Given the description of an element on the screen output the (x, y) to click on. 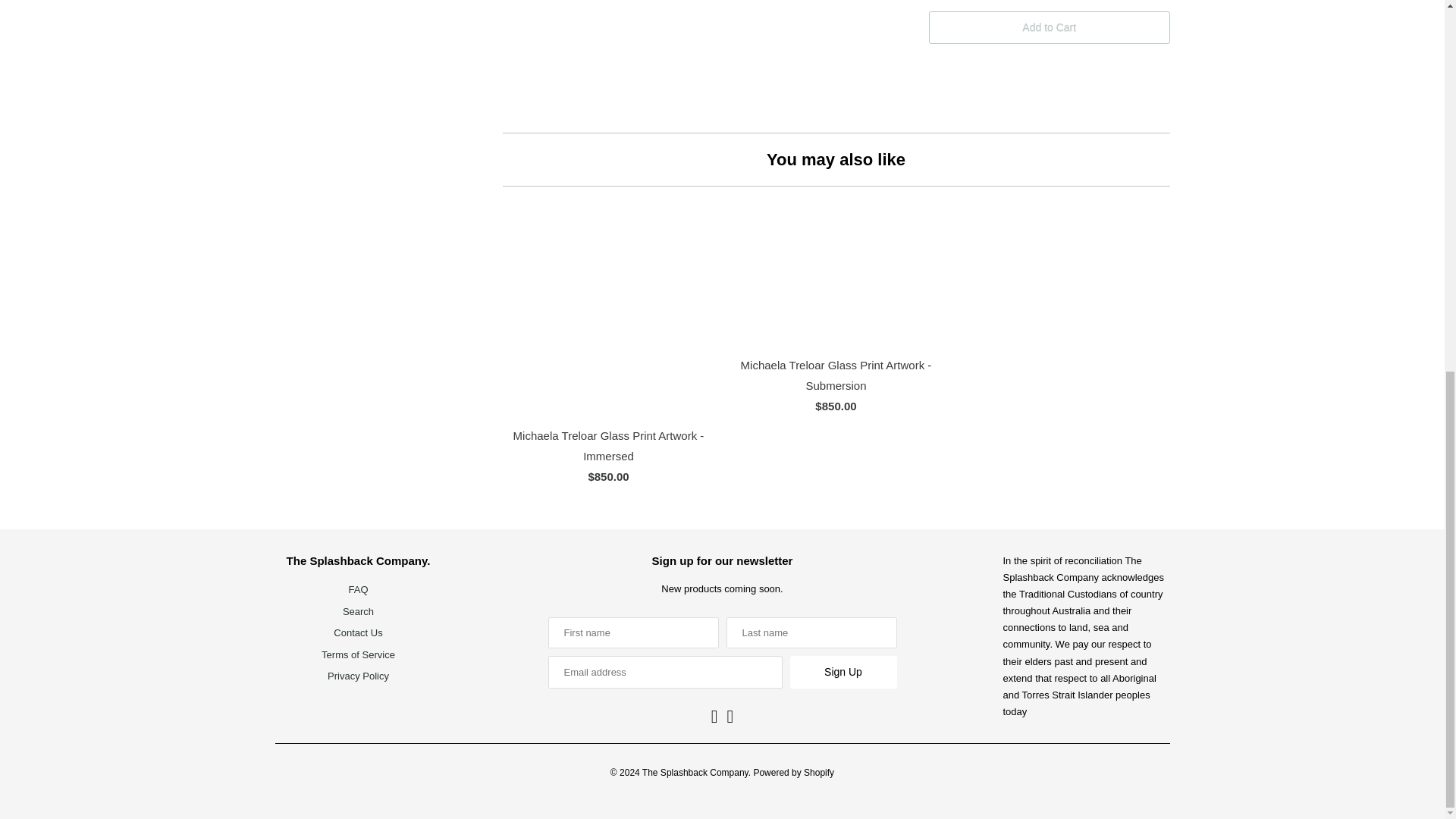
Sign Up (843, 672)
The Splashback Company on Instagram (714, 716)
Email The Splashback Company (730, 716)
